Given the description of an element on the screen output the (x, y) to click on. 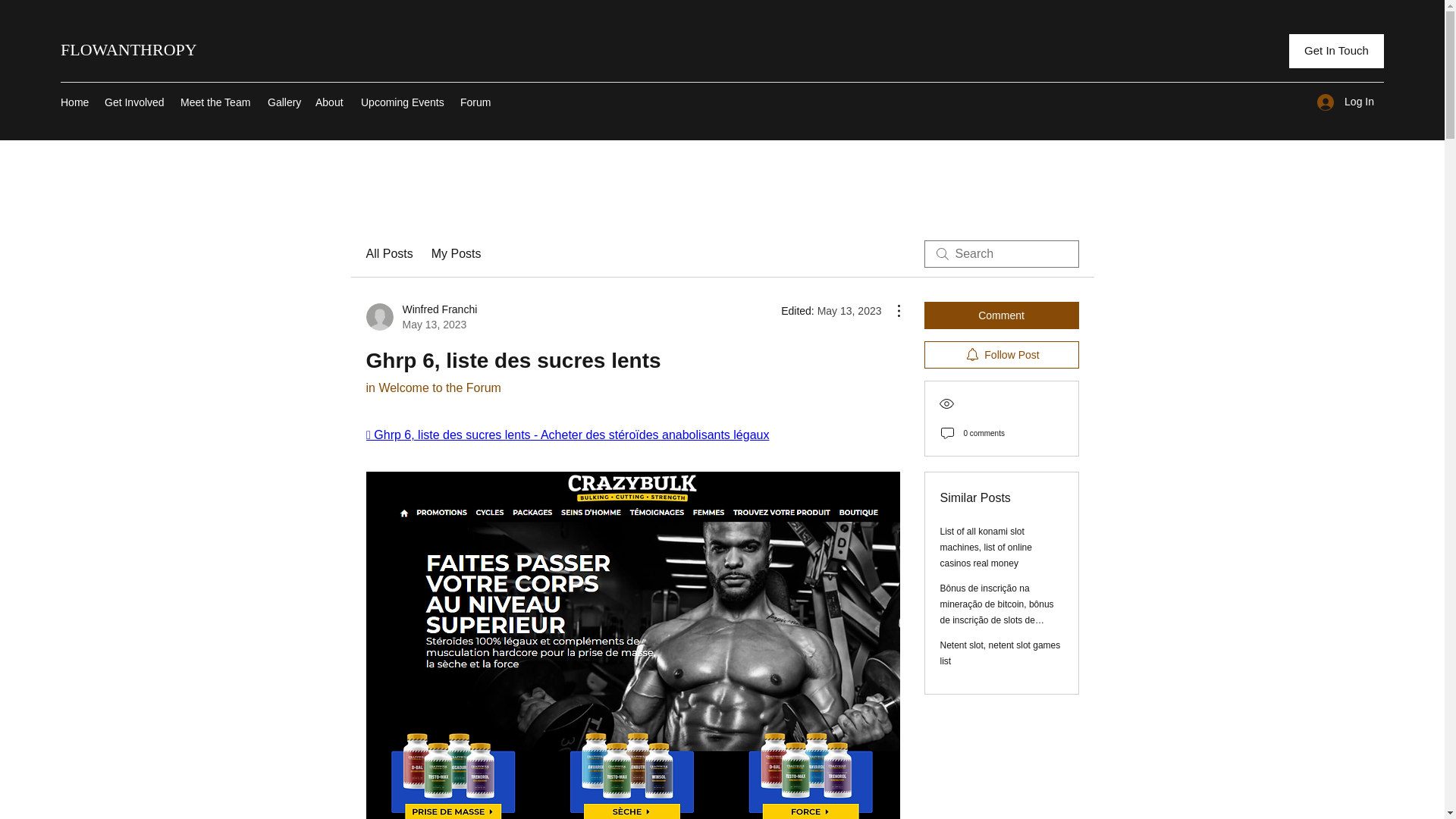
All Posts (421, 317)
Meet the Team (388, 253)
My Posts (216, 101)
Forum (455, 253)
Netent slot, netent slot games list (475, 101)
Follow Post (1000, 652)
Log In (1000, 354)
Gallery (1345, 101)
in Welcome to the Forum (283, 101)
FLOWANTHROPY (432, 387)
Get Involved (128, 49)
Home (135, 101)
Upcoming Events (74, 101)
